Given the description of an element on the screen output the (x, y) to click on. 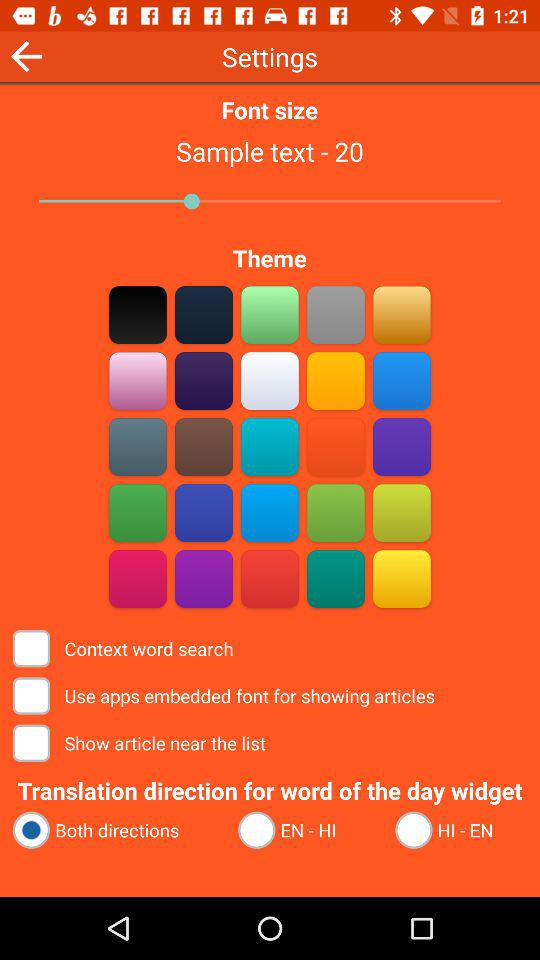
select orange option (335, 446)
